Given the description of an element on the screen output the (x, y) to click on. 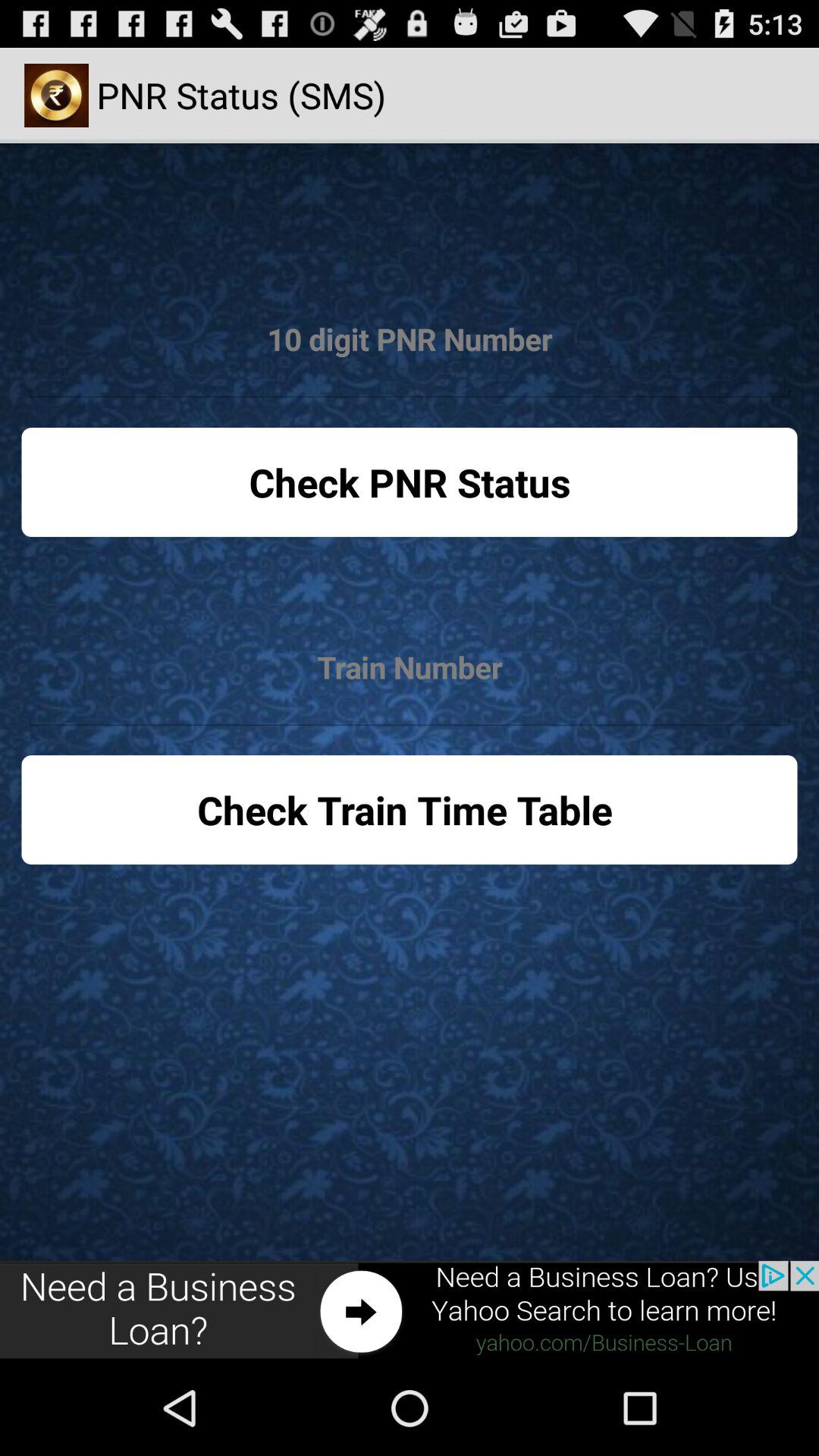
input train number (409, 667)
